Given the description of an element on the screen output the (x, y) to click on. 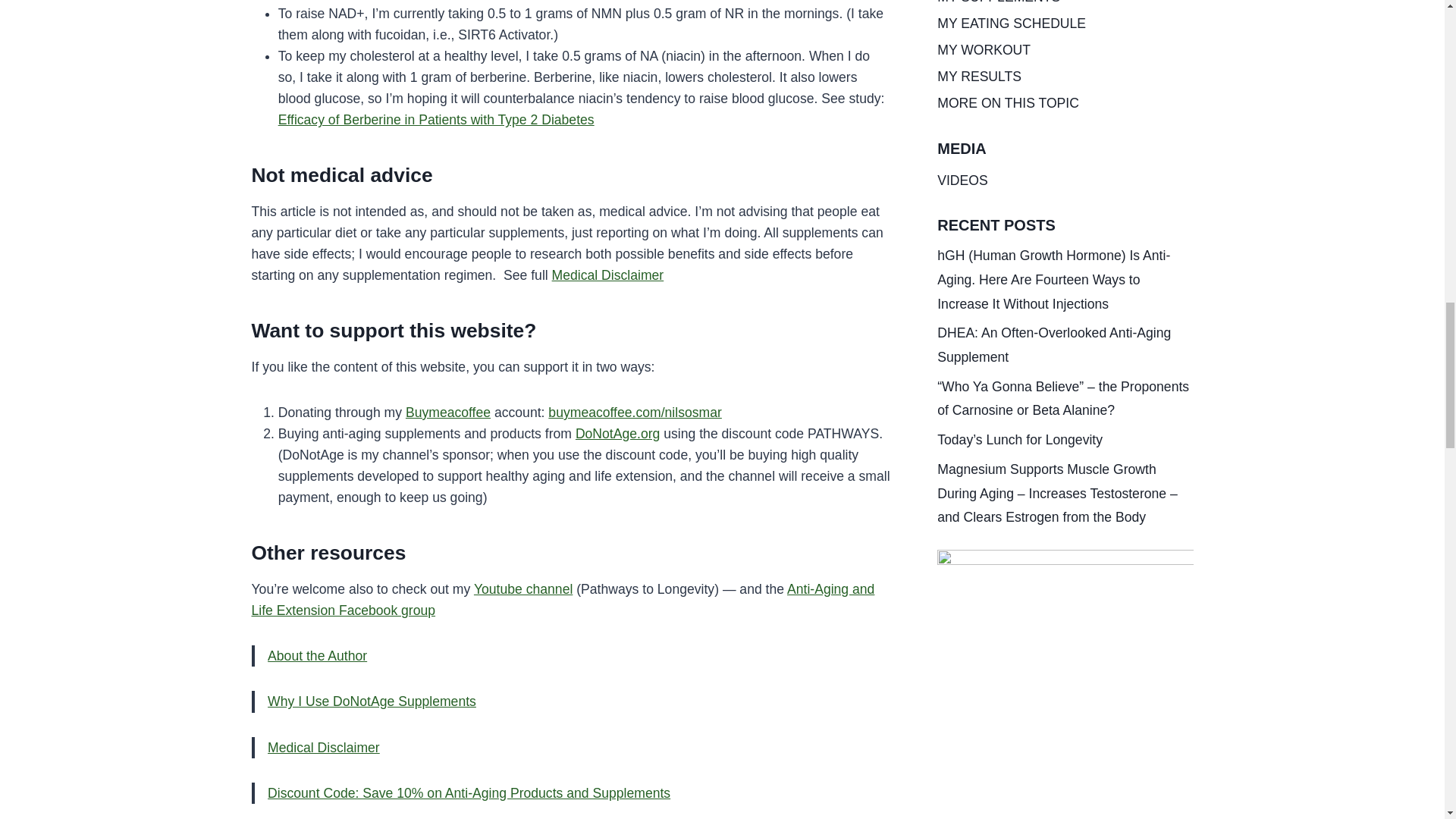
Efficacy of Berberine in Patients with Type 2 Diabetes (436, 119)
Buymeacoffee (448, 412)
Medical Disclaimer (607, 274)
